Given the description of an element on the screen output the (x, y) to click on. 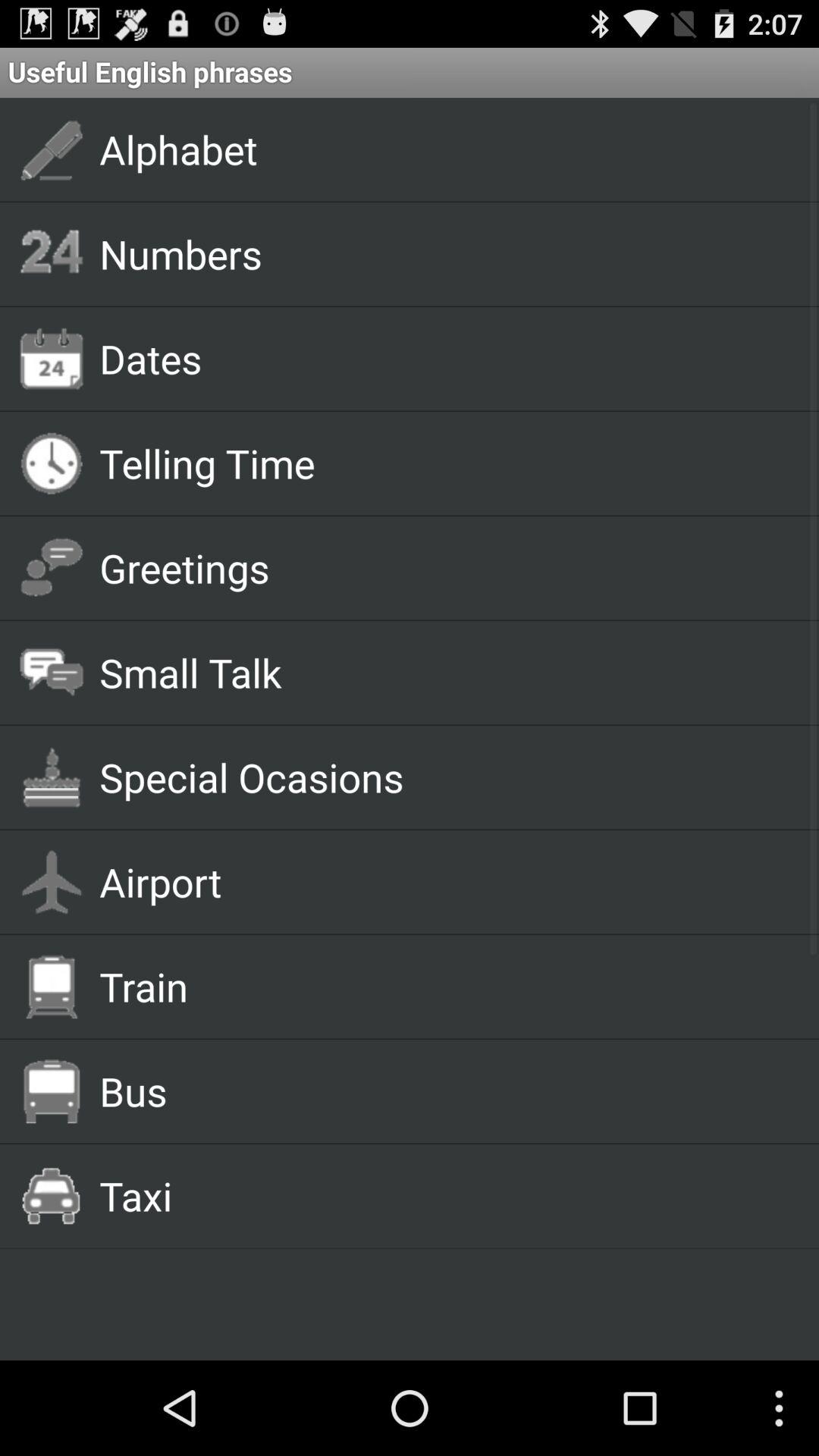
open numbers app (441, 253)
